Given the description of an element on the screen output the (x, y) to click on. 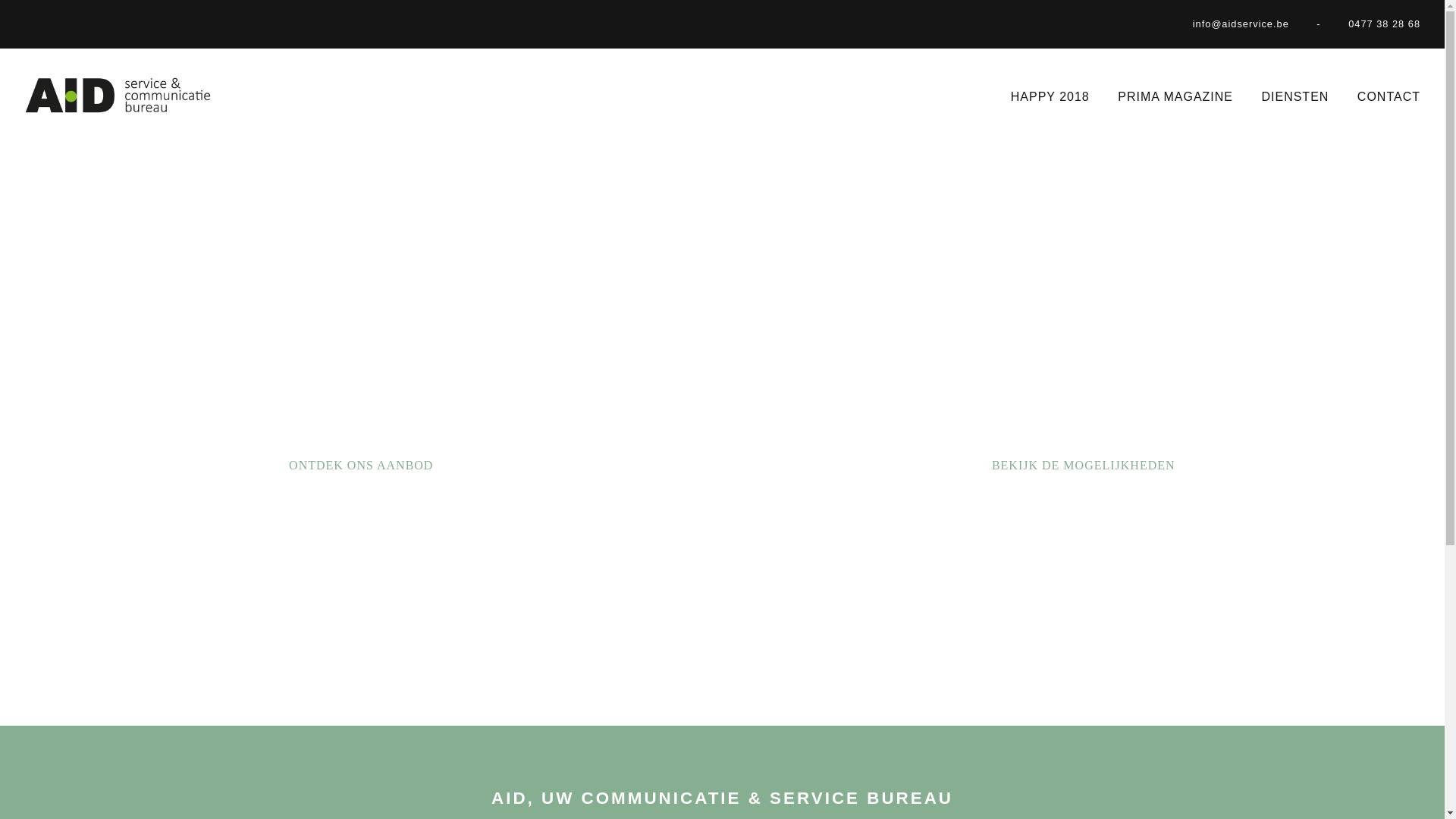
DIENSTEN Element type: text (1294, 96)
ONTDEK ONS AANBOD Element type: text (360, 464)
0477 38 28 68 Element type: text (1384, 23)
HAPPY 2018 Element type: text (1049, 96)
CONTACT Element type: text (1388, 96)
BEKIJK DE MOGELIJKHEDEN Element type: text (1083, 464)
PRIMA MAGAZINE Element type: text (1175, 96)
info@aidservice.be Element type: text (1240, 23)
